Given the description of an element on the screen output the (x, y) to click on. 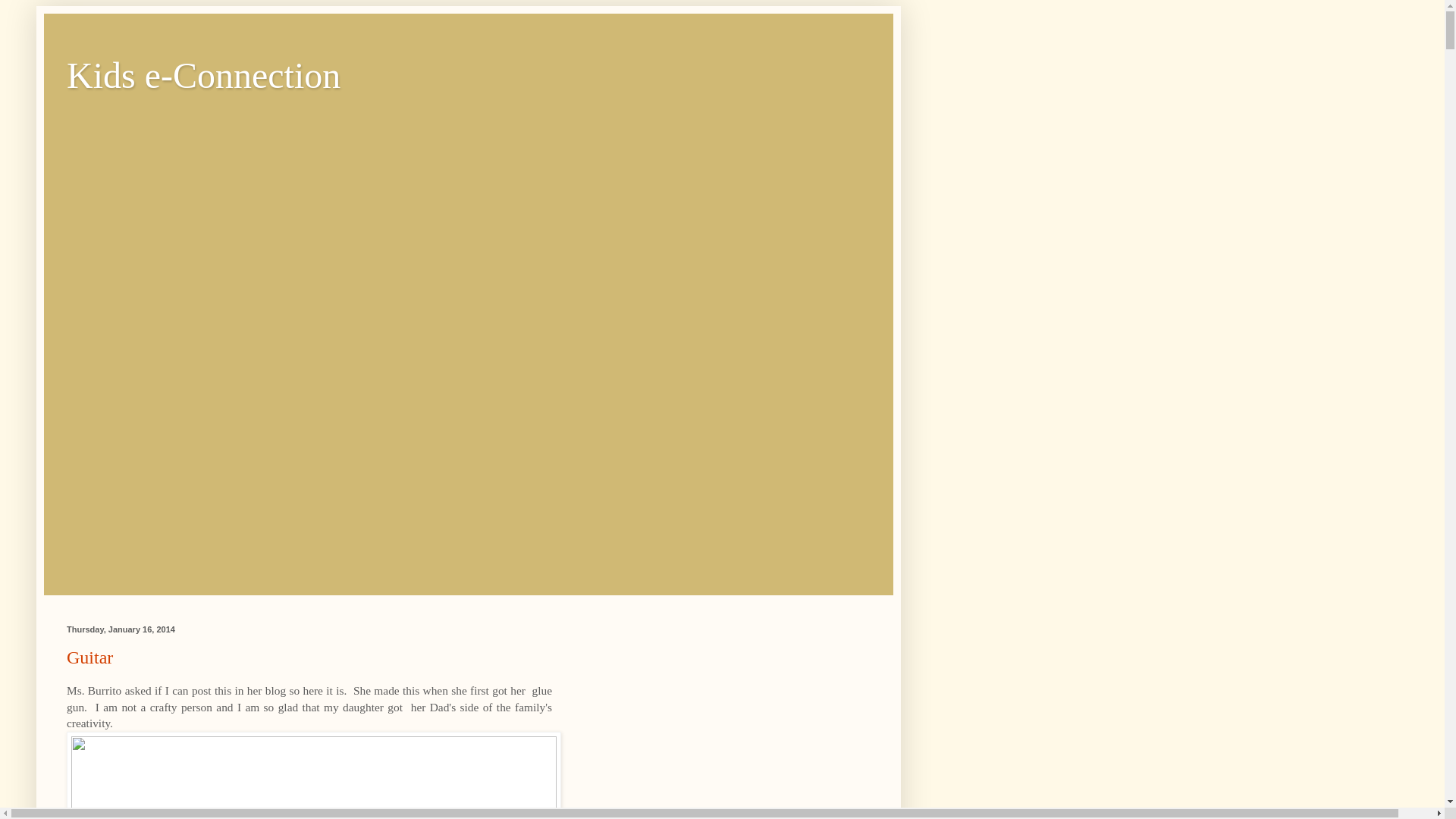
Kids e-Connection (203, 75)
Guitar (89, 657)
